Given the description of an element on the screen output the (x, y) to click on. 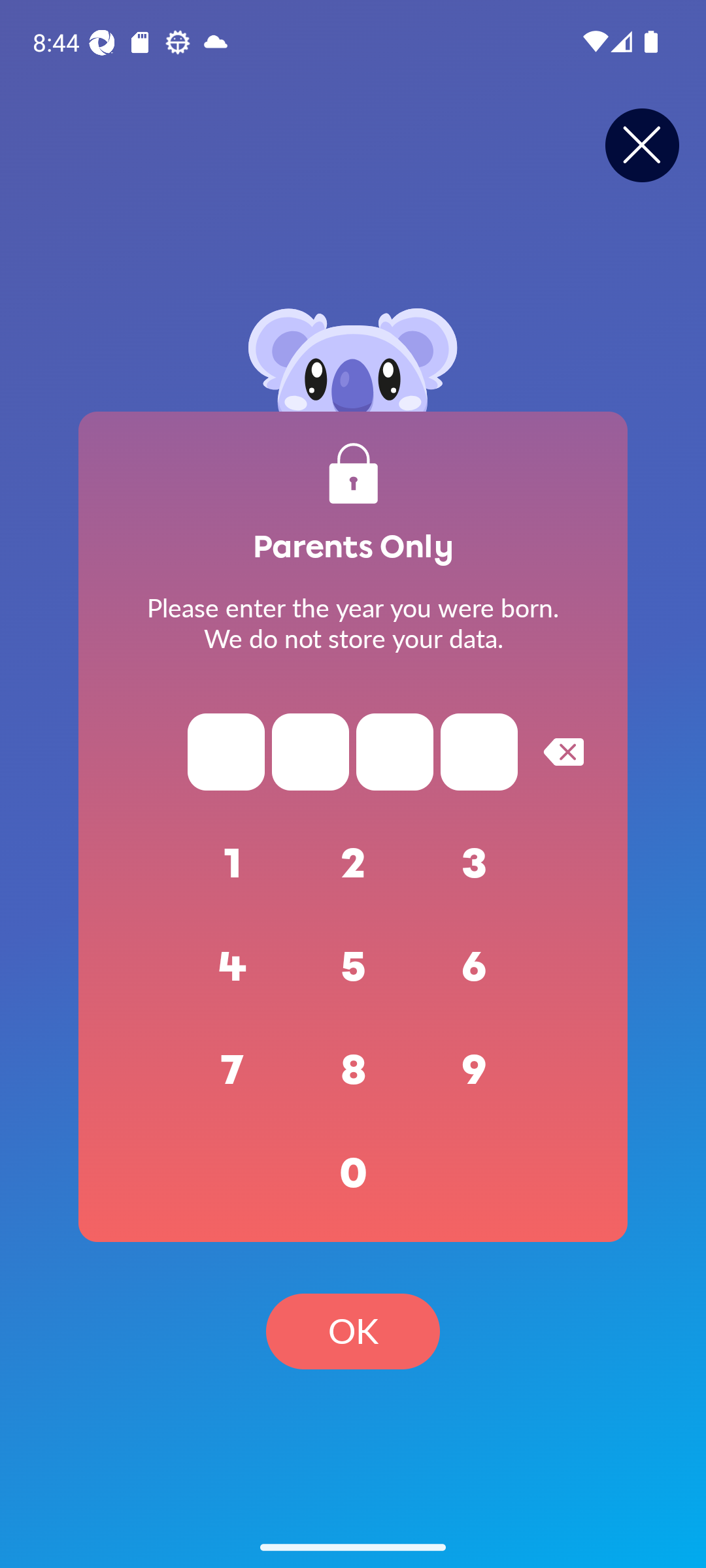
Delete (563, 751)
1 (232, 863)
2 (353, 863)
3 (474, 863)
4 (232, 966)
5 (353, 966)
6 (474, 966)
7 (232, 1069)
8 (353, 1069)
9 (474, 1069)
0 (353, 1173)
OK (352, 1331)
